Given the description of an element on the screen output the (x, y) to click on. 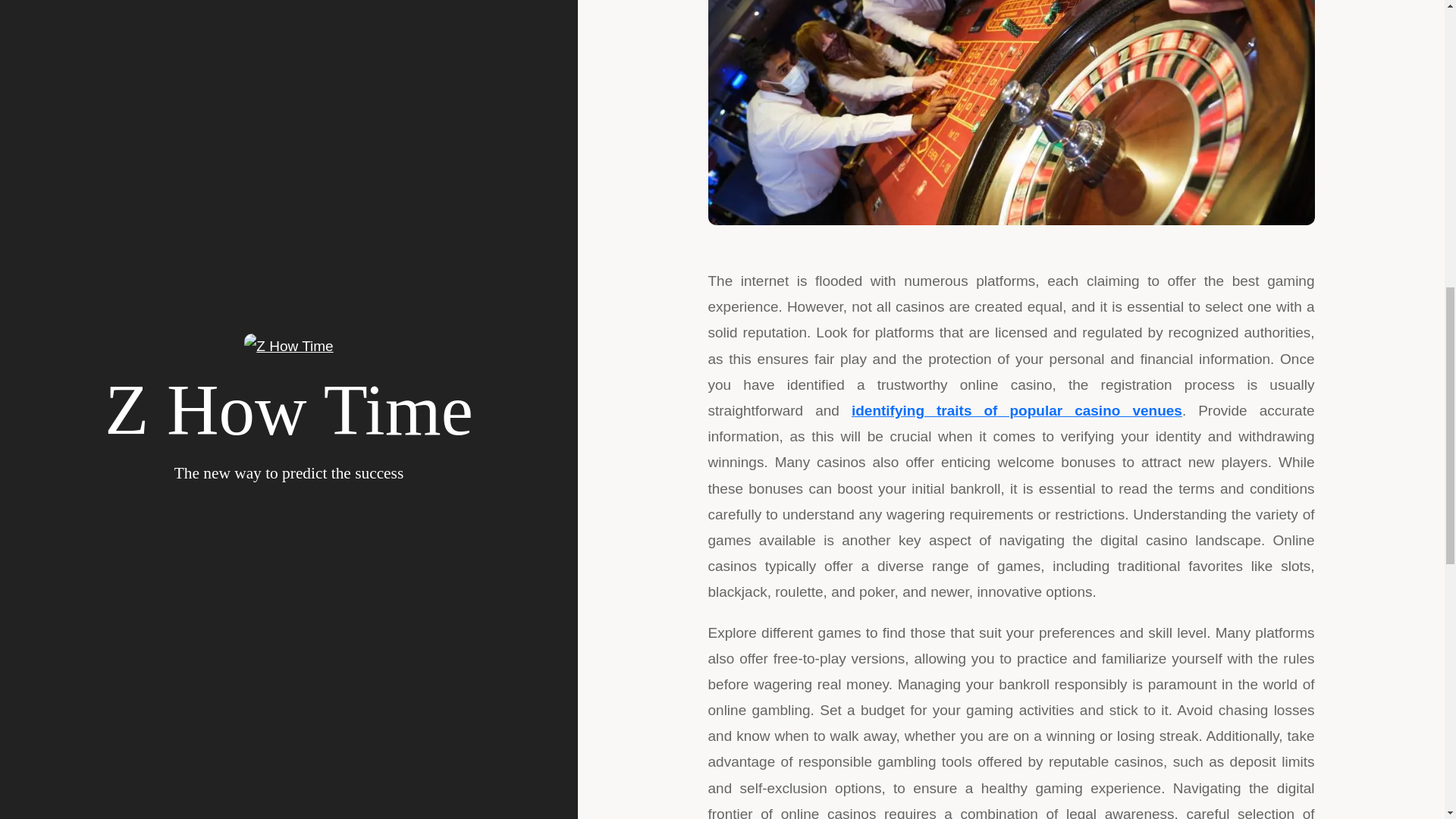
identifying traits of popular casino venues (1016, 410)
